Given the description of an element on the screen output the (x, y) to click on. 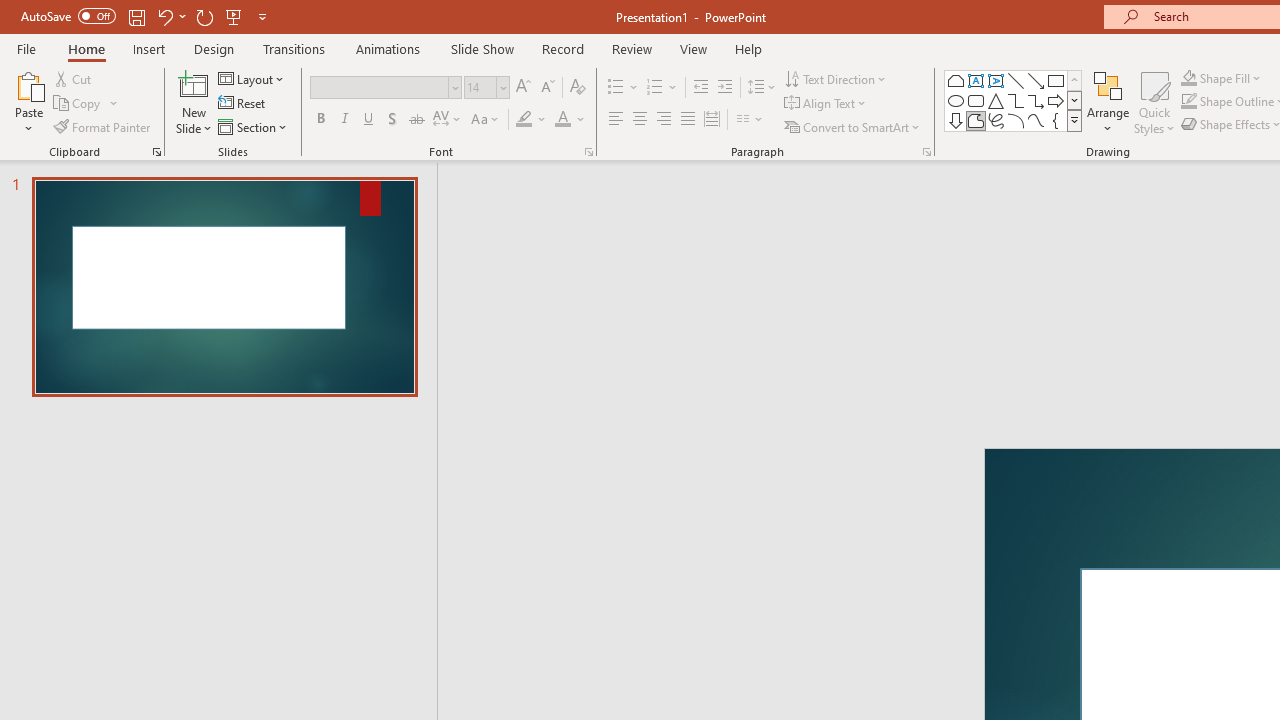
Rectangle: Top Corners Snipped (955, 80)
